Given the description of an element on the screen output the (x, y) to click on. 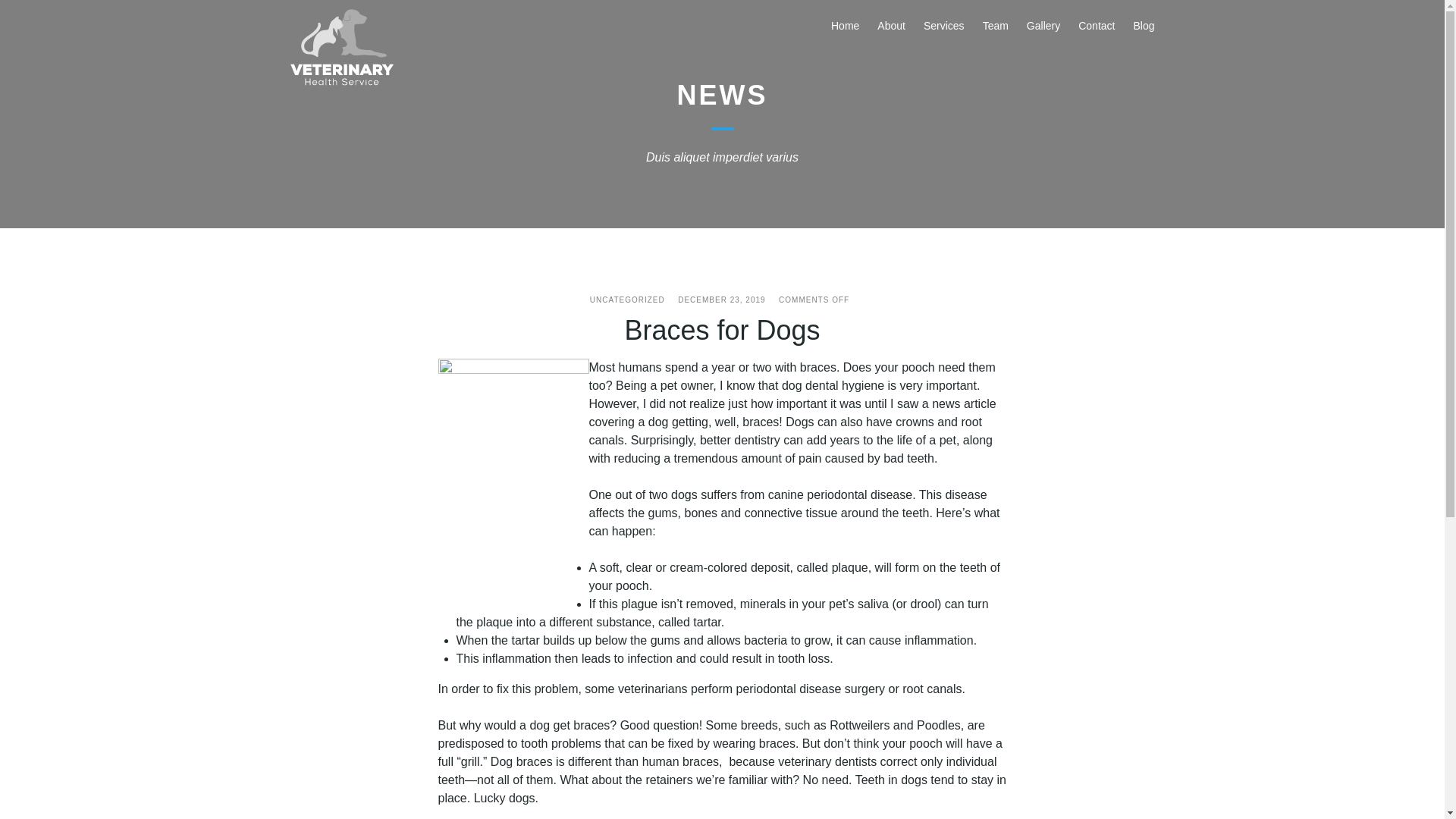
Services (943, 26)
Home (845, 26)
UNCATEGORIZED (627, 299)
Team (995, 26)
About (891, 26)
Contact (1096, 26)
Gallery (1042, 26)
Blog (1143, 26)
